Given the description of an element on the screen output the (x, y) to click on. 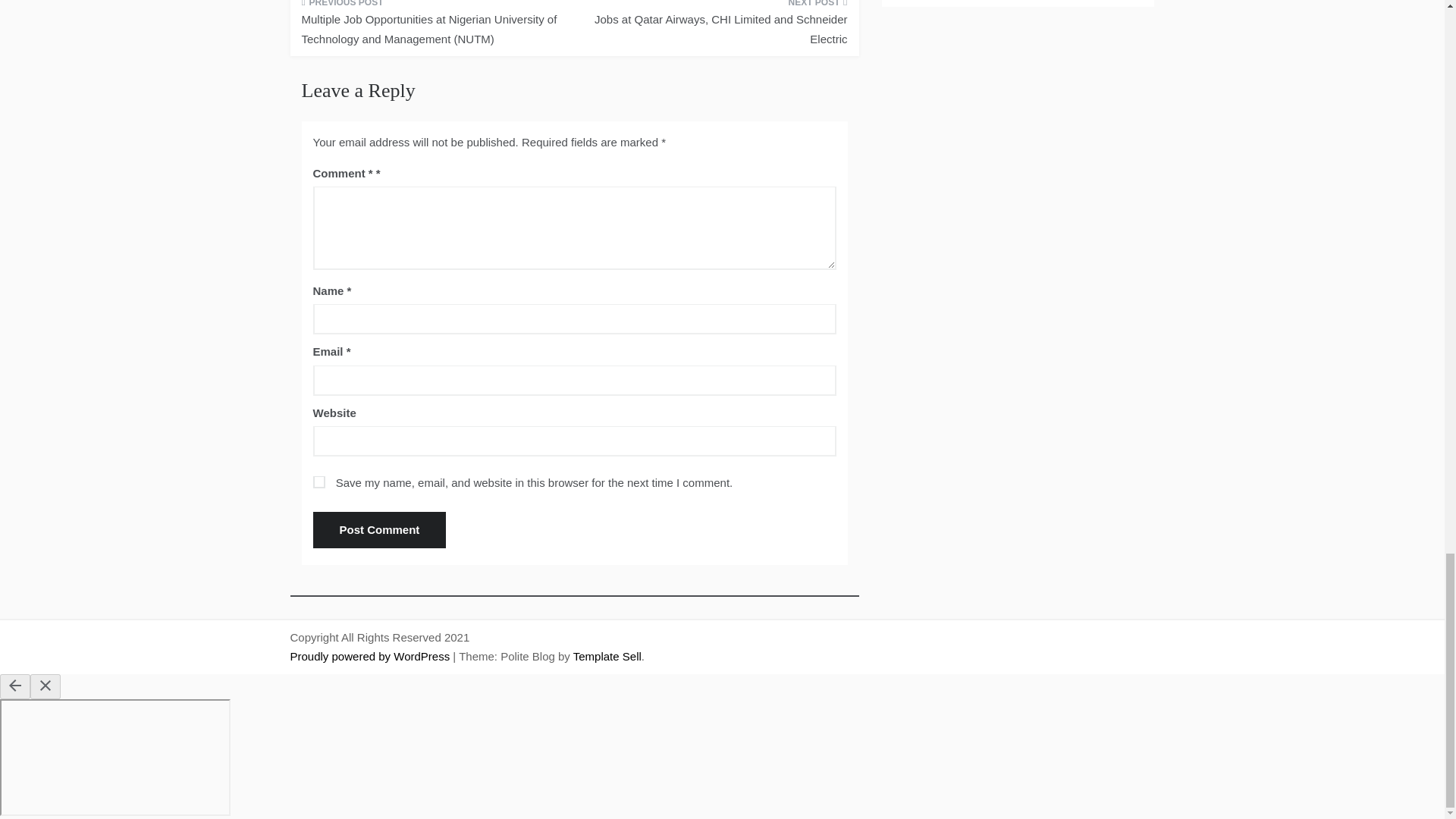
Post Comment (379, 529)
yes (318, 481)
Post Comment (379, 529)
Jobs at Qatar Airways, CHI Limited and Schneider Electric (716, 28)
